Given the description of an element on the screen output the (x, y) to click on. 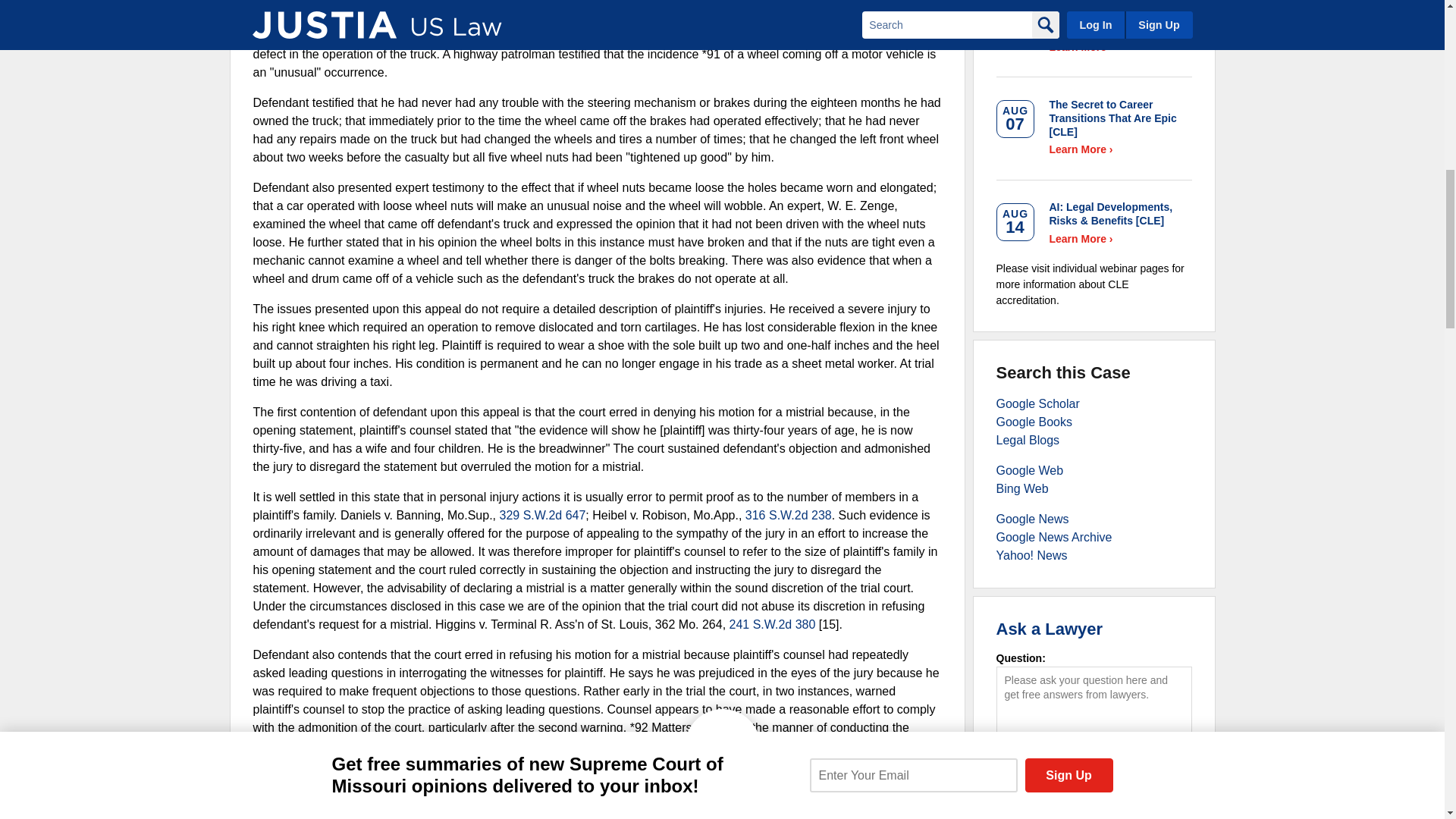
Law - Google Books (1034, 421)
329 S.W.2d 647 (542, 514)
316 S.W.2d 238 (788, 514)
Law - Bing Web (1021, 488)
Law - Legal Blogs (1027, 440)
Law - Google News (1031, 518)
241 S.W.2d 380 (772, 624)
Law - Google News Archive (1053, 536)
Law - Yahoo! News (1031, 554)
Law - Google Scholar (1037, 403)
Law - Google Web (1029, 470)
